Given the description of an element on the screen output the (x, y) to click on. 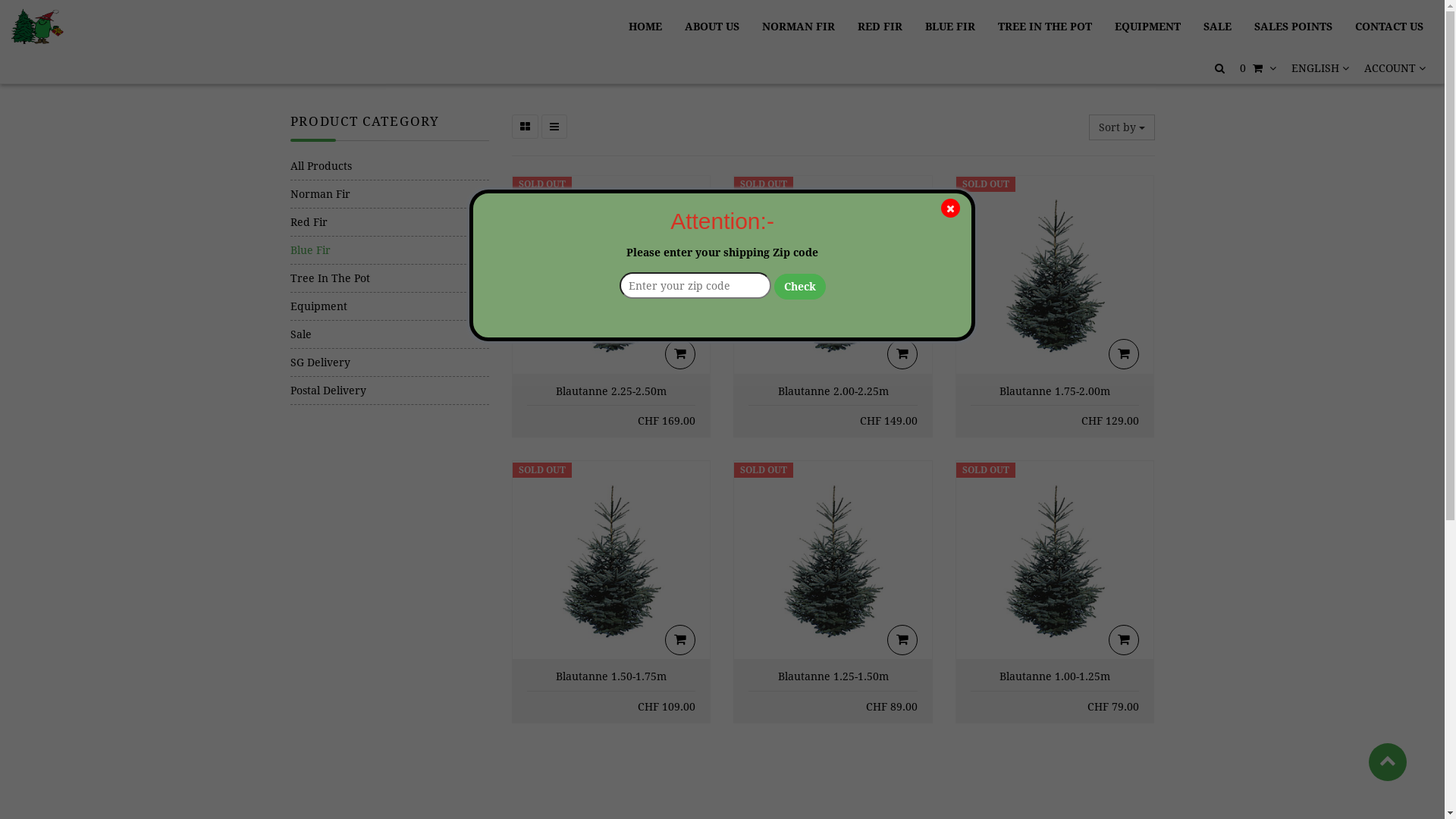
NORMAN FIR Element type: text (798, 26)
Check Element type: text (799, 286)
Blautanne 1.50-1.75m Element type: text (610, 676)
Equipment Element type: text (389, 306)
Blue Fir Element type: text (389, 249)
Norman Fir Element type: text (389, 193)
CONTACT US Element type: text (1389, 26)
Add to Cart Element type: hover (1123, 639)
0 Element type: text (1257, 68)
All Products Element type: text (389, 165)
Red Fir Element type: text (389, 221)
TREE IN THE POT Element type: text (1044, 26)
Add to Cart Element type: hover (680, 353)
Postal Delivery Element type: text (389, 390)
ABOUT US Element type: text (711, 26)
List View Element type: hover (554, 126)
RED FIR Element type: text (879, 26)
Sale Element type: text (389, 334)
Add to Cart Element type: hover (902, 353)
Blautanne 1.00-1.25m Element type: text (1054, 676)
SG Delivery Element type: text (389, 362)
Sort by Element type: text (1121, 127)
Blautanne 2.00-2.25m Element type: text (833, 391)
Tree In The Pot Element type: text (389, 277)
HOME Element type: text (644, 26)
Blautanne 1.25-1.50m Element type: text (833, 676)
SALE Element type: text (1217, 26)
Christbaum-Service Element type: hover (37, 26)
EQUIPMENT Element type: text (1147, 26)
Add to Cart Element type: hover (1123, 353)
Grid View Element type: hover (524, 126)
Blautanne 1.75-2.00m Element type: text (1054, 391)
Blautanne 2.25-2.50m Element type: text (610, 391)
BLUE FIR Element type: text (950, 26)
Add to Cart Element type: hover (902, 639)
Add to Cart Element type: hover (680, 639)
SALES POINTS Element type: text (1293, 26)
